Given the description of an element on the screen output the (x, y) to click on. 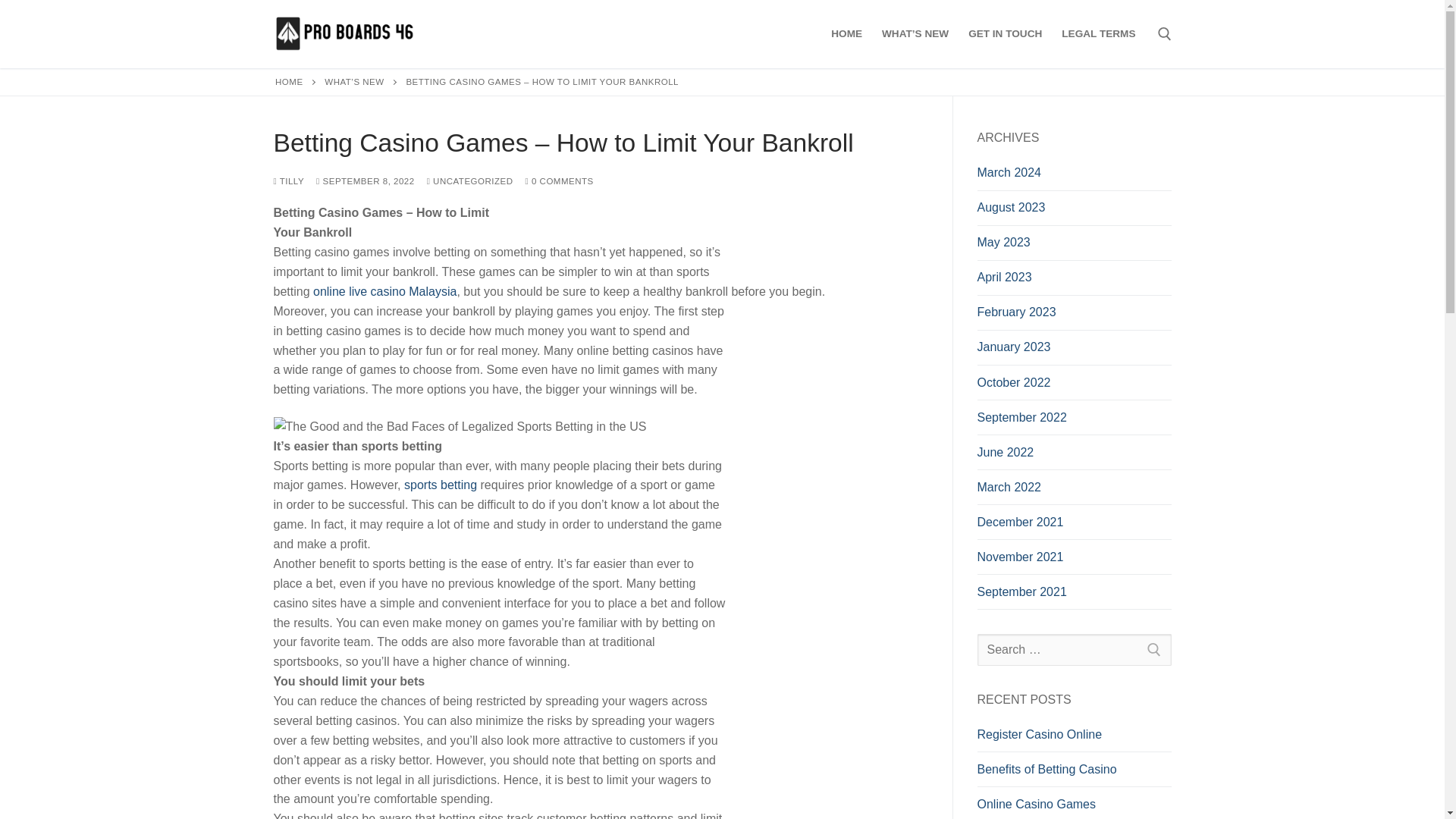
March 2022 (1073, 491)
UNCATEGORIZED (469, 180)
May 2023 (1073, 246)
August 2023 (1073, 211)
February 2023 (1073, 316)
March 2024 (1073, 176)
September 2021 (1073, 595)
October 2022 (1073, 386)
June 2022 (1073, 456)
November 2021 (1073, 560)
September 2022 (1073, 420)
HOME (288, 81)
GET IN TOUCH (1004, 33)
TILLY (288, 180)
HOME (846, 33)
